Given the description of an element on the screen output the (x, y) to click on. 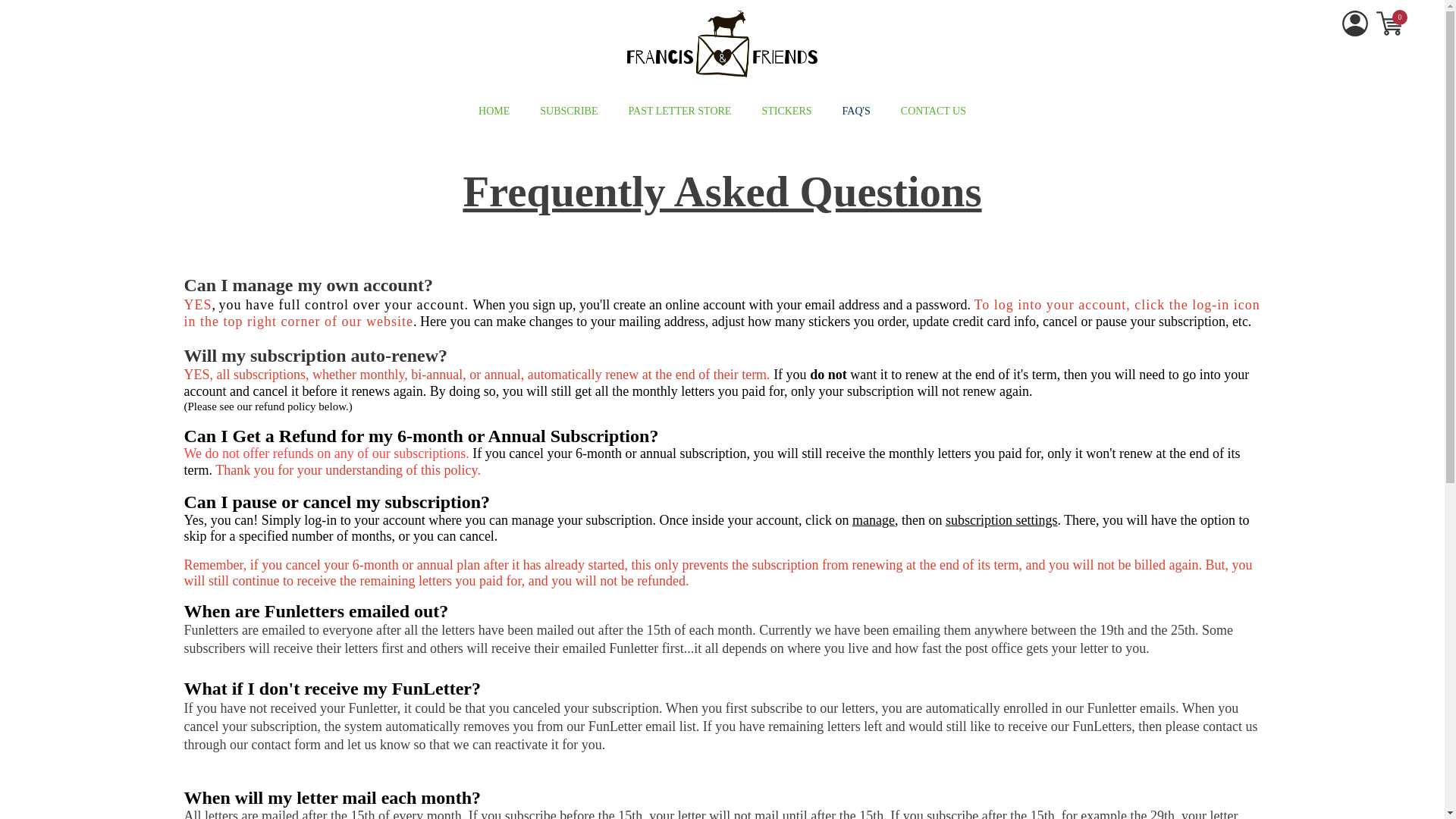
CONTACT US (933, 111)
FAQ'S (856, 111)
HOME (494, 111)
STICKERS (785, 111)
PAST LETTER STORE (680, 111)
SUBSCRIBE (568, 111)
0 (1390, 22)
